Given the description of an element on the screen output the (x, y) to click on. 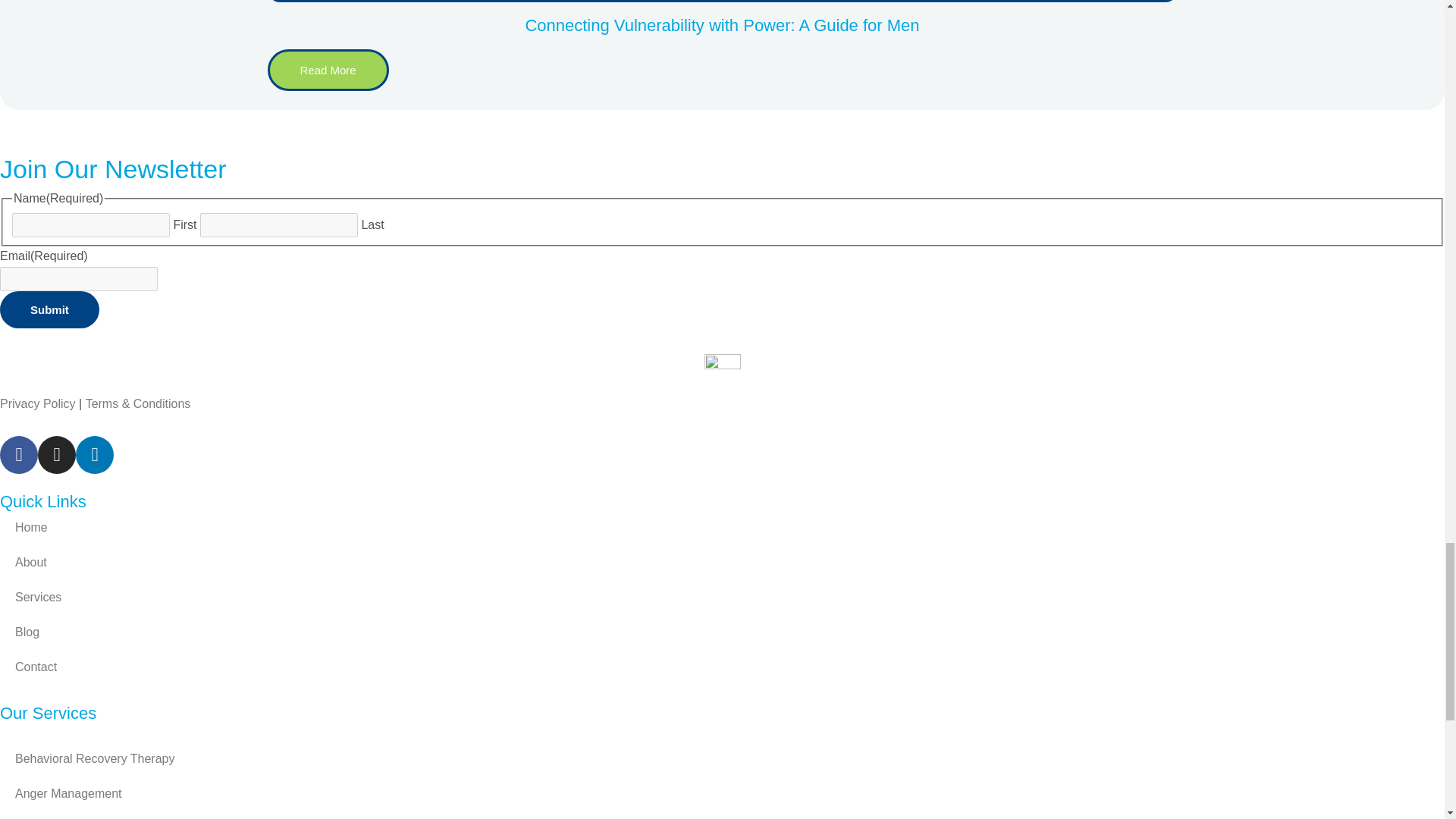
Submit (49, 309)
Read More (327, 69)
Connecting Vulnerability with Power: A Guide for Men (721, 25)
Submit (49, 309)
Privacy Policy (39, 403)
